Given the description of an element on the screen output the (x, y) to click on. 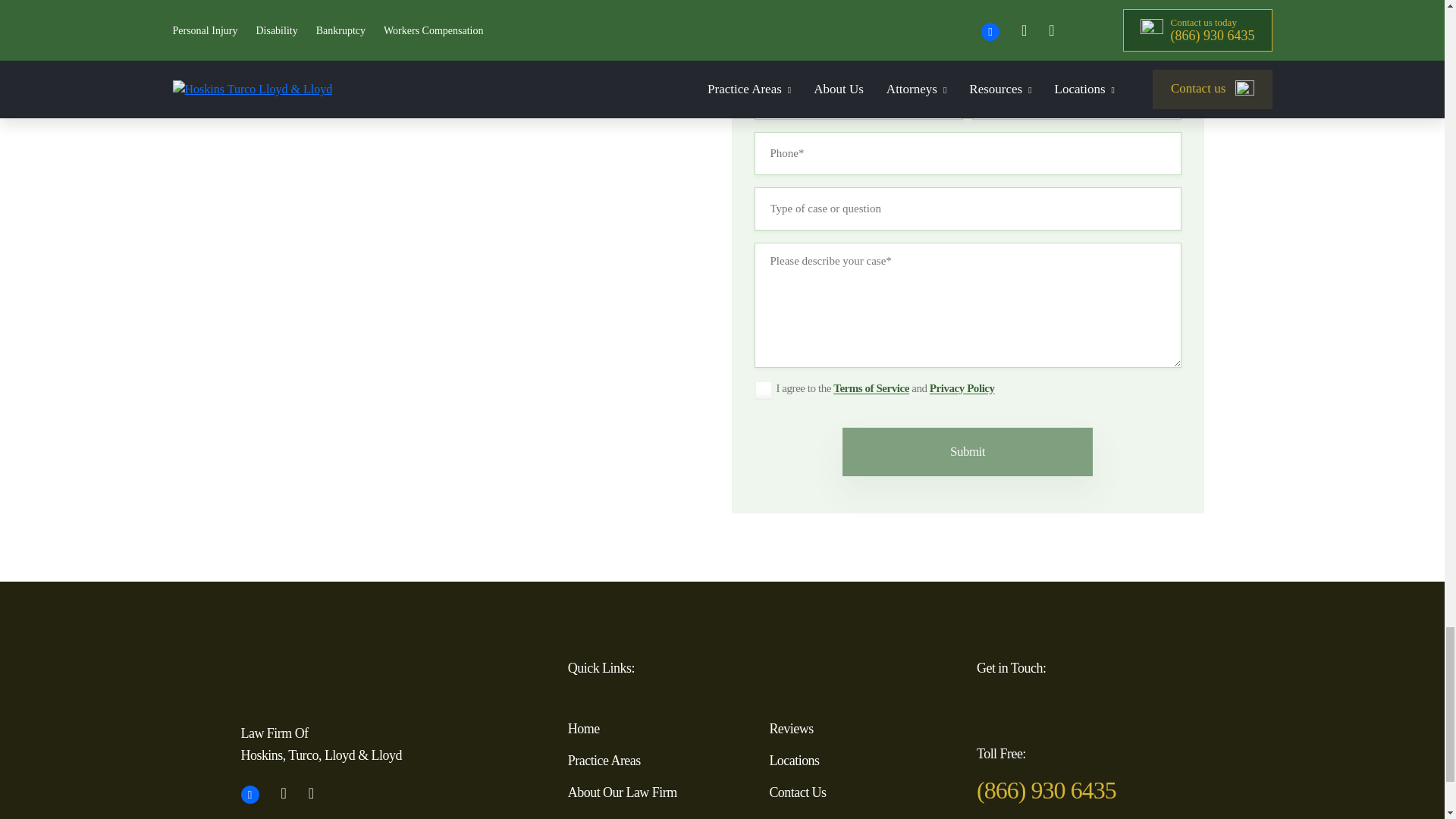
Submit (968, 451)
